Given the description of an element on the screen output the (x, y) to click on. 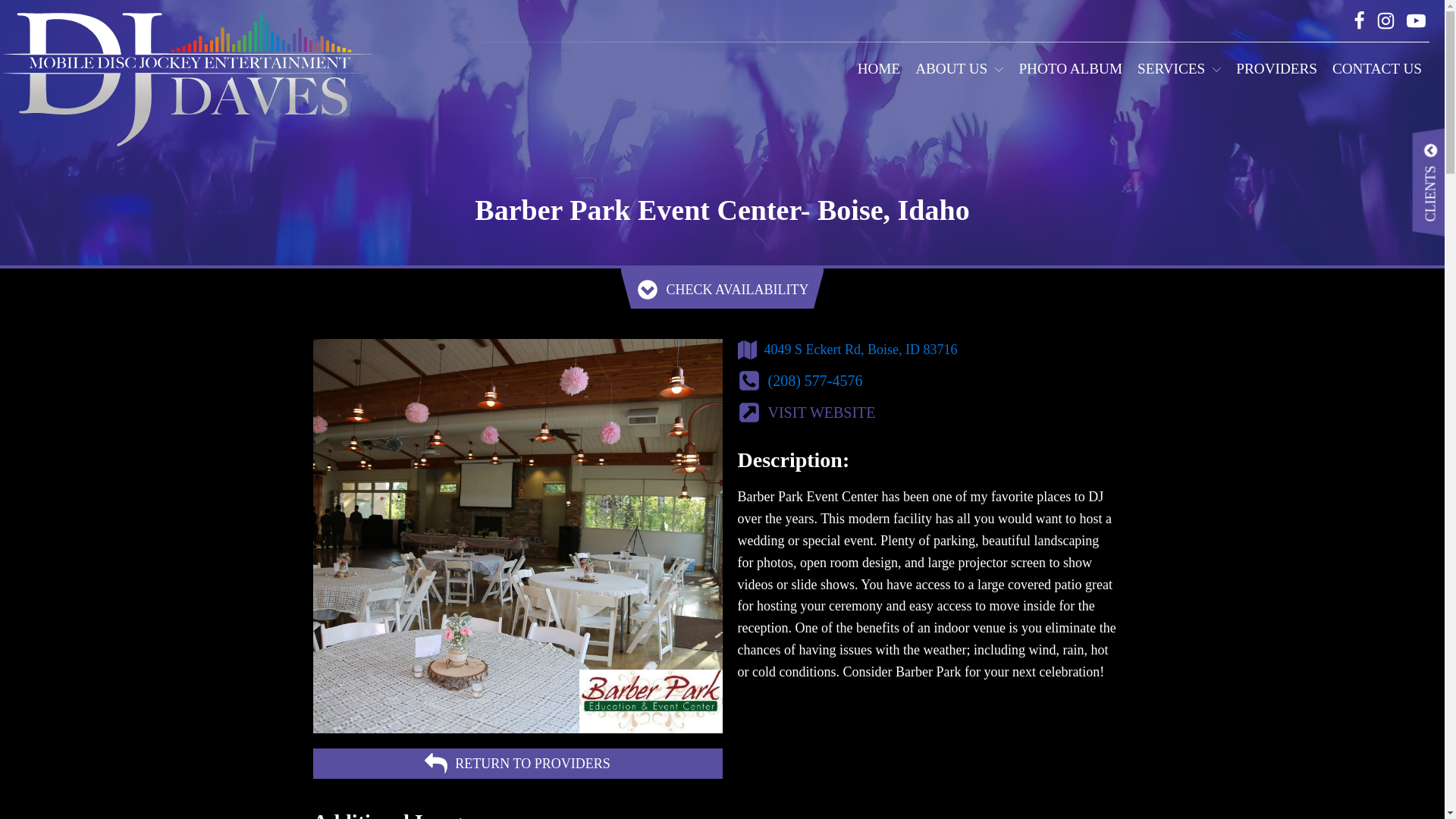
PARTY (1028, 215)
CONTACT US (1377, 69)
CHECK AVAILABILITY (722, 289)
VISIT WEBSITE (926, 412)
SCHOOL EVENTS (619, 215)
PHOTO ALBUM (1069, 69)
ABOUT US (959, 69)
SERVICES (1179, 69)
CORPORATE (824, 215)
4049 S Eckert Rd, Boise, ID 83716 (861, 349)
PROVIDERS (1276, 69)
HOME (879, 69)
WEDDING (414, 215)
RETURN TO PROVIDERS (517, 763)
